Given the description of an element on the screen output the (x, y) to click on. 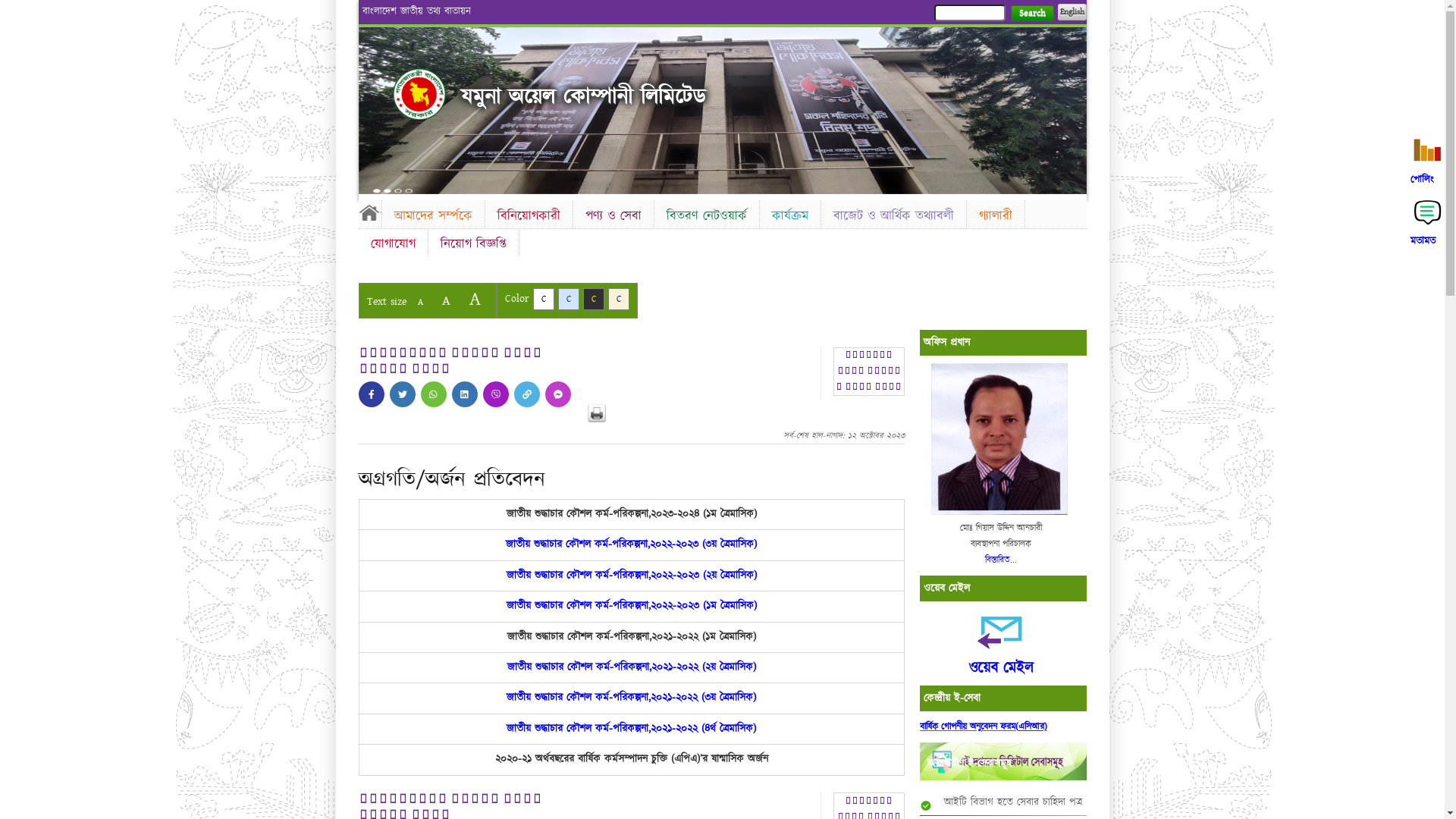
English Element type: text (1071, 11)
C Element type: text (618, 299)
C Element type: text (542, 299)
Search Element type: text (1031, 13)
C Element type: text (568, 299)
Home Element type: hover (418, 93)
Home Element type: hover (368, 211)
C Element type: text (592, 299)
A Element type: text (419, 301)
A Element type: text (474, 298)
A Element type: text (445, 300)
